Given the description of an element on the screen output the (x, y) to click on. 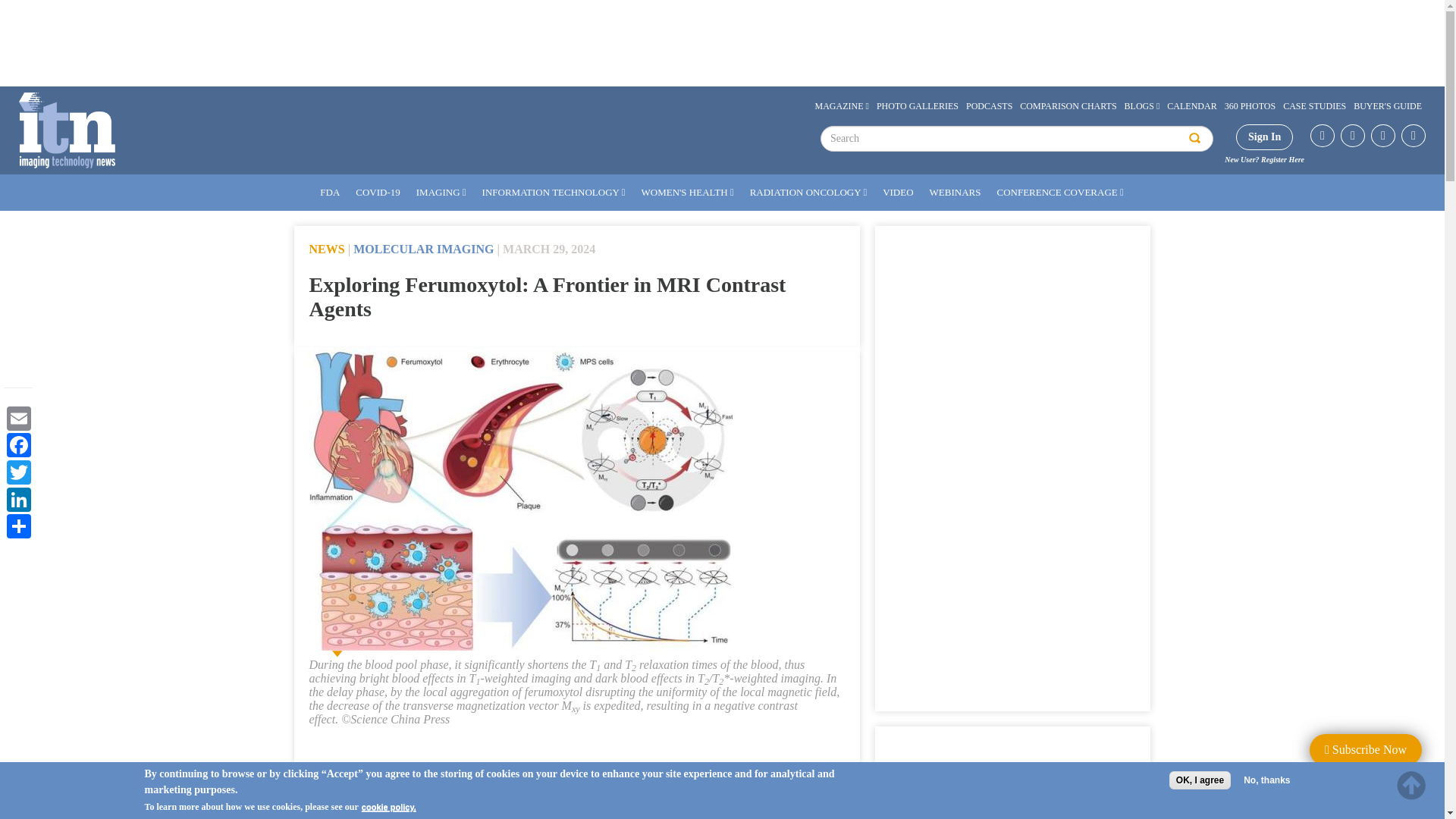
MAGAZINE (841, 105)
IMAGING (441, 192)
COMPARISON CHARTS (1067, 105)
3rd party ad content (721, 42)
FDA (330, 192)
COVID-19 (378, 192)
PHOTO GALLERIES (917, 105)
CASE STUDIES (1314, 105)
PODCASTS (989, 105)
Home (66, 130)
CALENDAR (1191, 105)
360 PHOTOS (1250, 105)
New User? Register Here (1264, 159)
BUYER'S GUIDE (1387, 105)
